Given the description of an element on the screen output the (x, y) to click on. 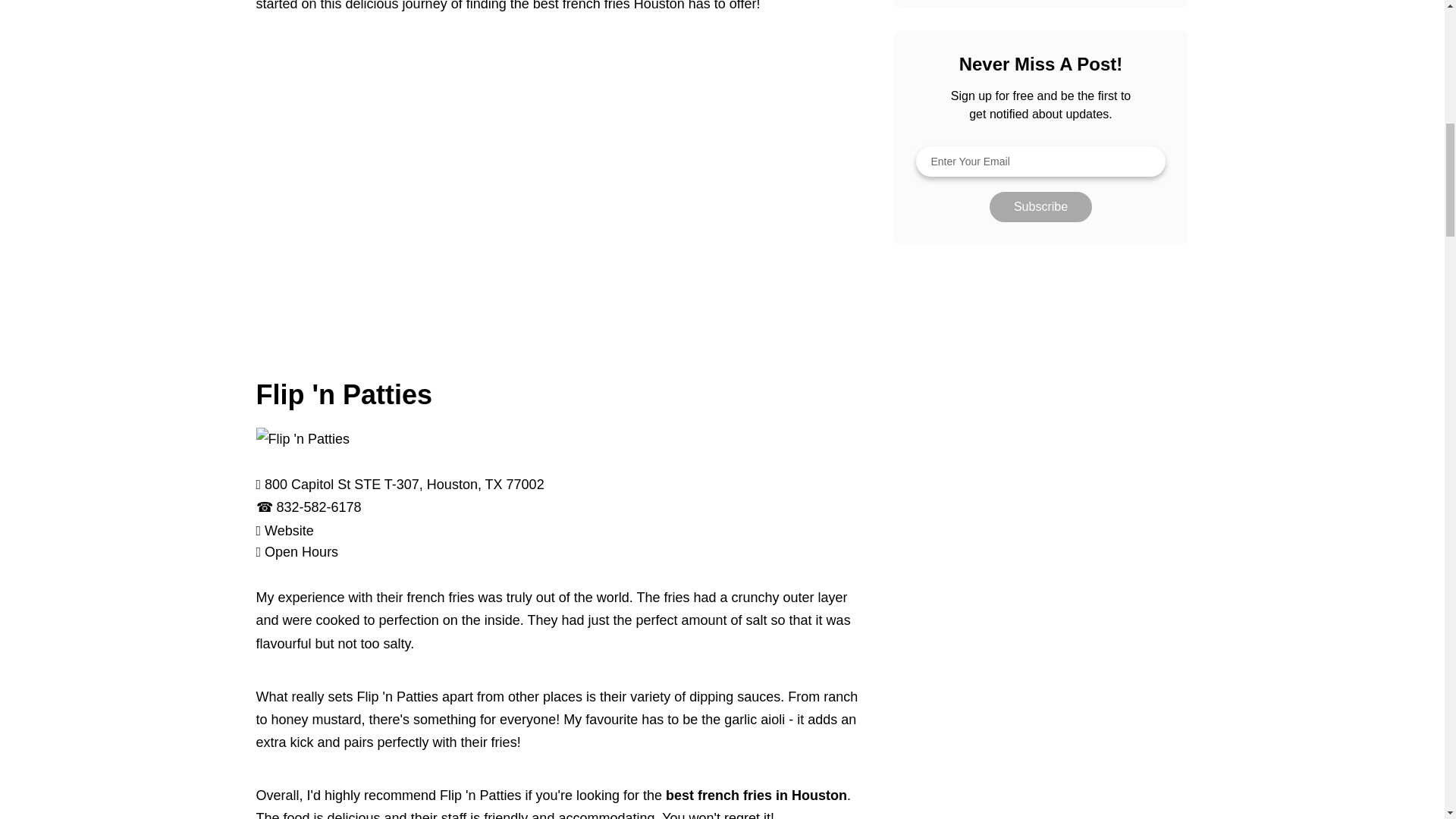
832-582-6178 (318, 507)
800 Capitol St STE T-307, Houston, TX 77002 (404, 484)
Website (289, 530)
